Given the description of an element on the screen output the (x, y) to click on. 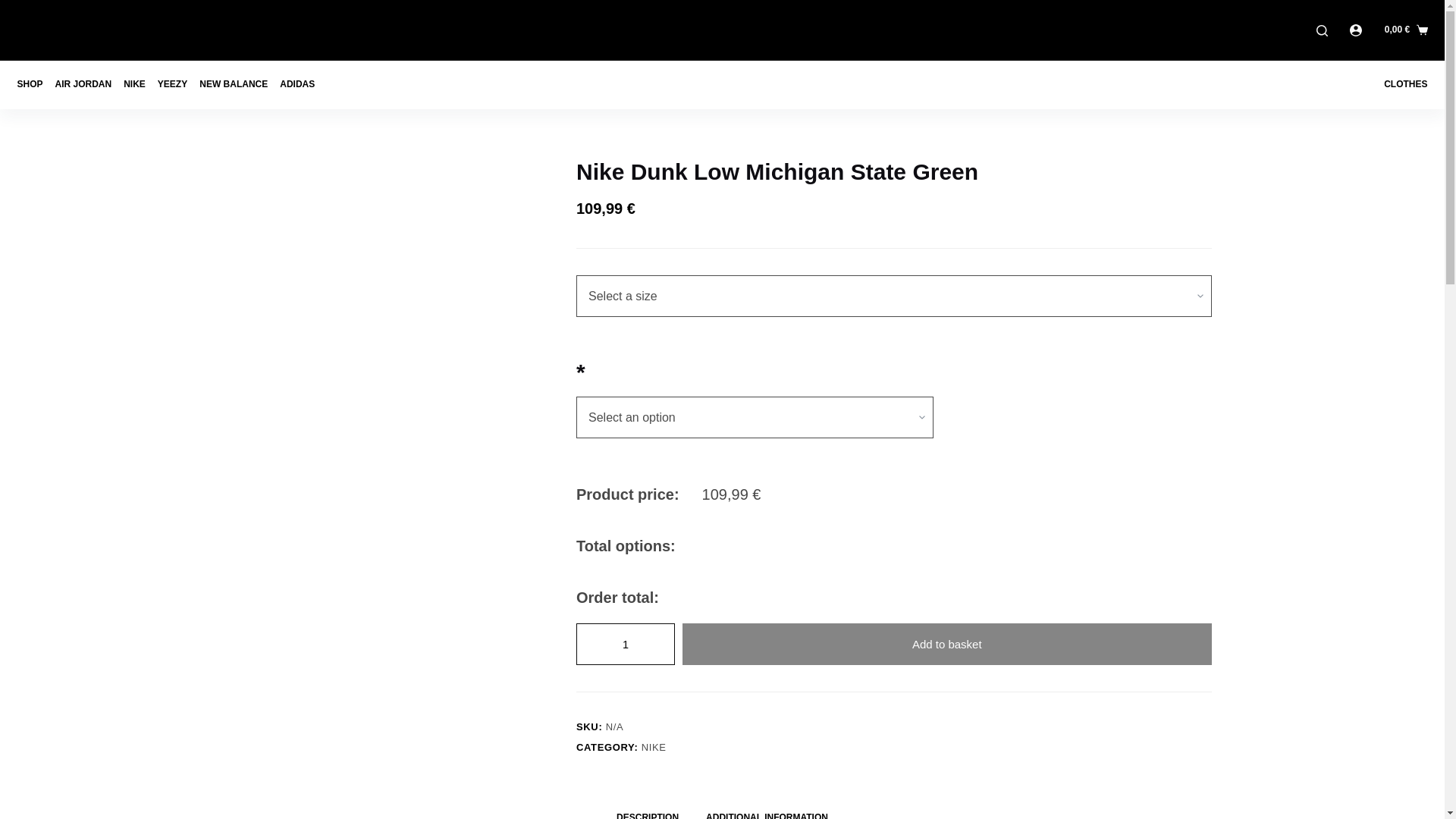
ADIDAS (296, 84)
Nike-Dunk-Low-Michigan-State-Green (389, 248)
NEW BALANCE (233, 84)
AIR JORDAN (83, 84)
NIKE (654, 747)
1 (625, 644)
Add to basket (946, 644)
DESCRIPTION (647, 809)
CLOTHES (1401, 84)
Skip to content (15, 7)
